Given the description of an element on the screen output the (x, y) to click on. 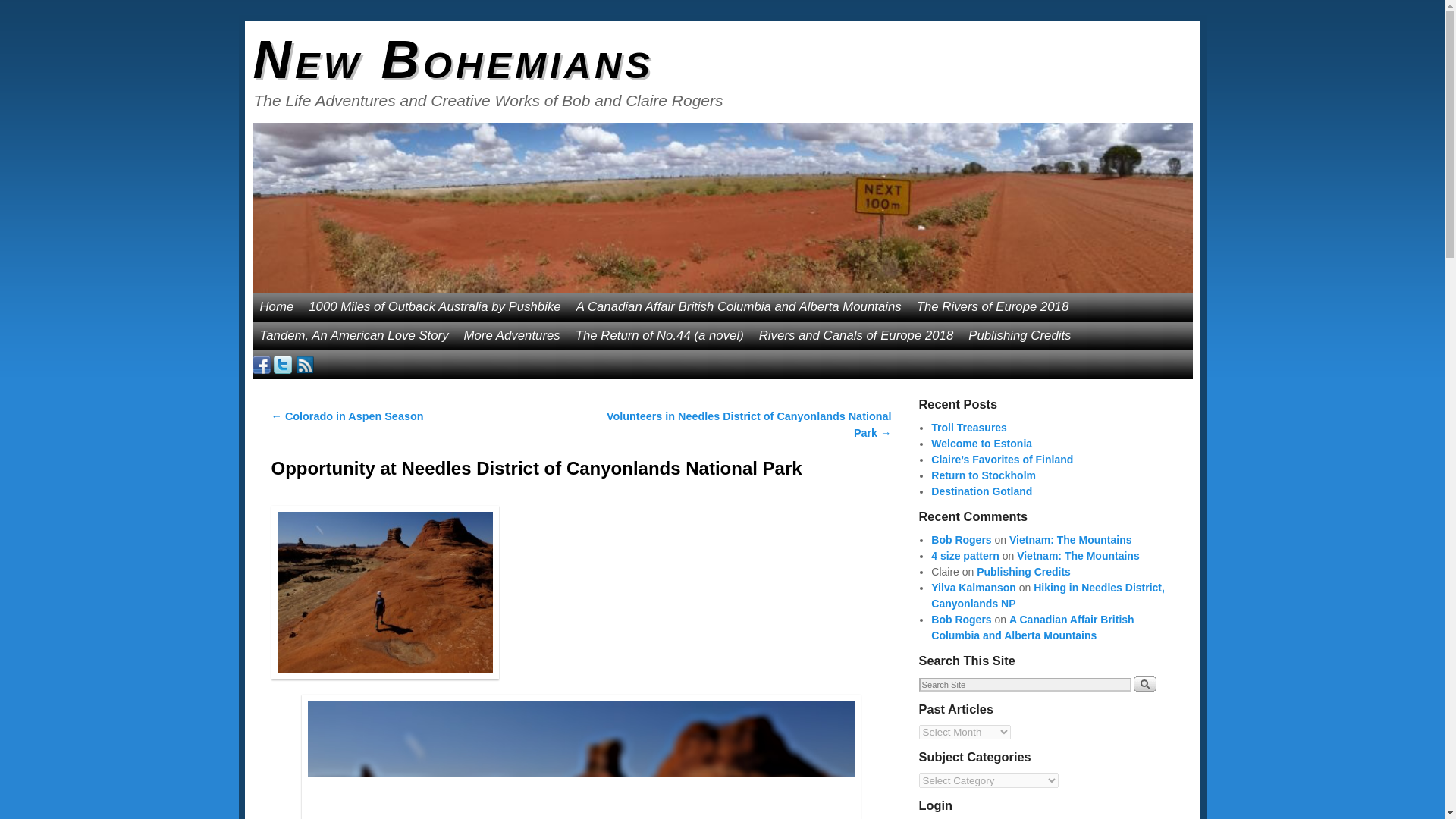
A Canadian Affair British Columbia and Alberta Mountains (738, 306)
Claire in Needles (580, 756)
New Bohemians (453, 59)
Home (276, 306)
Twitter (282, 364)
Twitter (282, 364)
Publishing Credits (1019, 335)
New Bohemians (453, 59)
Tandem, An American Love Story (353, 335)
Facebook: social networking (260, 364)
The Rivers of Europe 2018 (992, 306)
This site's RSS feed (304, 364)
Rivers and Canals of Europe 2018 (855, 335)
More Adventures (512, 335)
Facebook: social networking (260, 364)
